Given the description of an element on the screen output the (x, y) to click on. 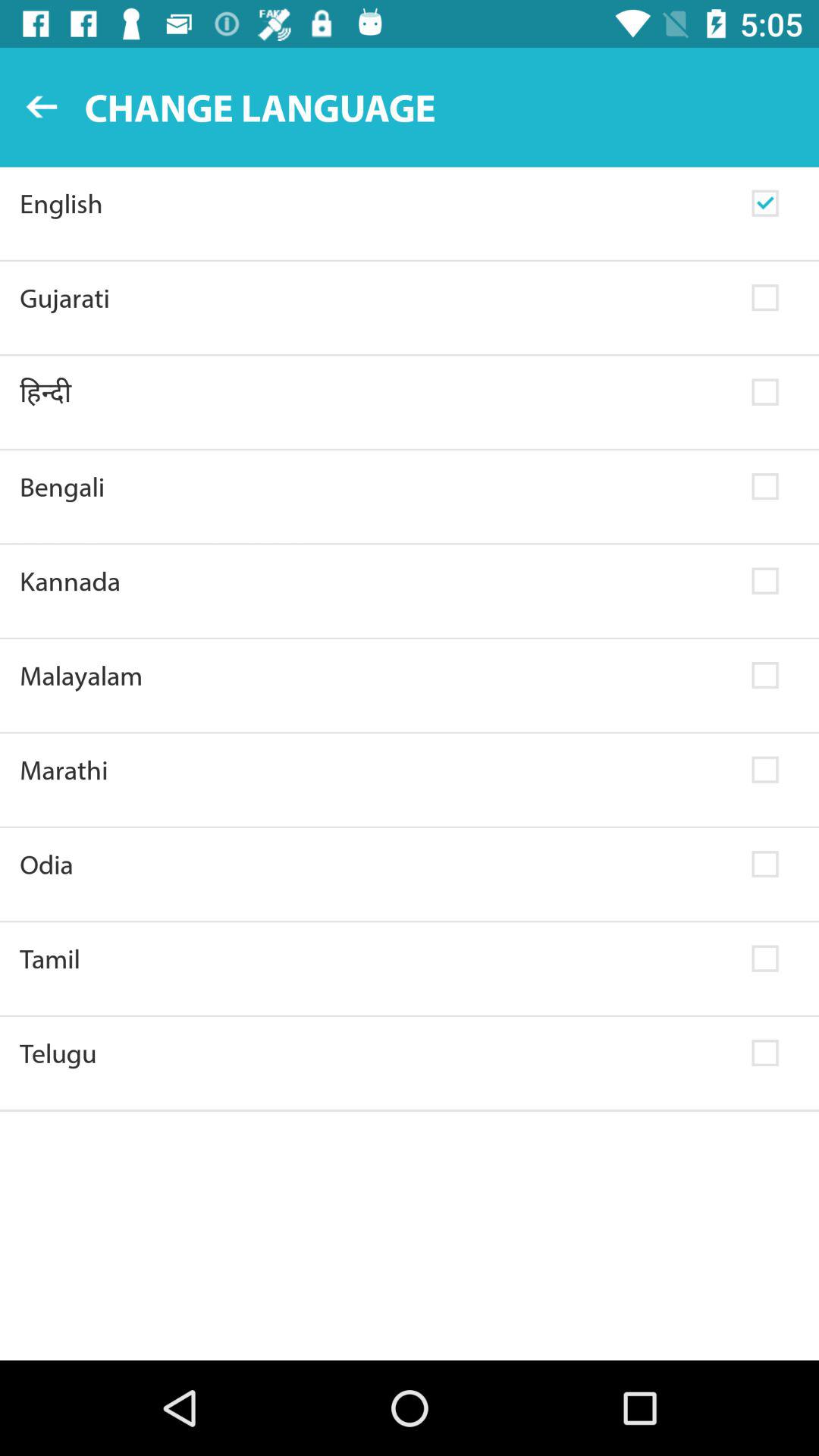
flip to bengali icon (375, 486)
